Given the description of an element on the screen output the (x, y) to click on. 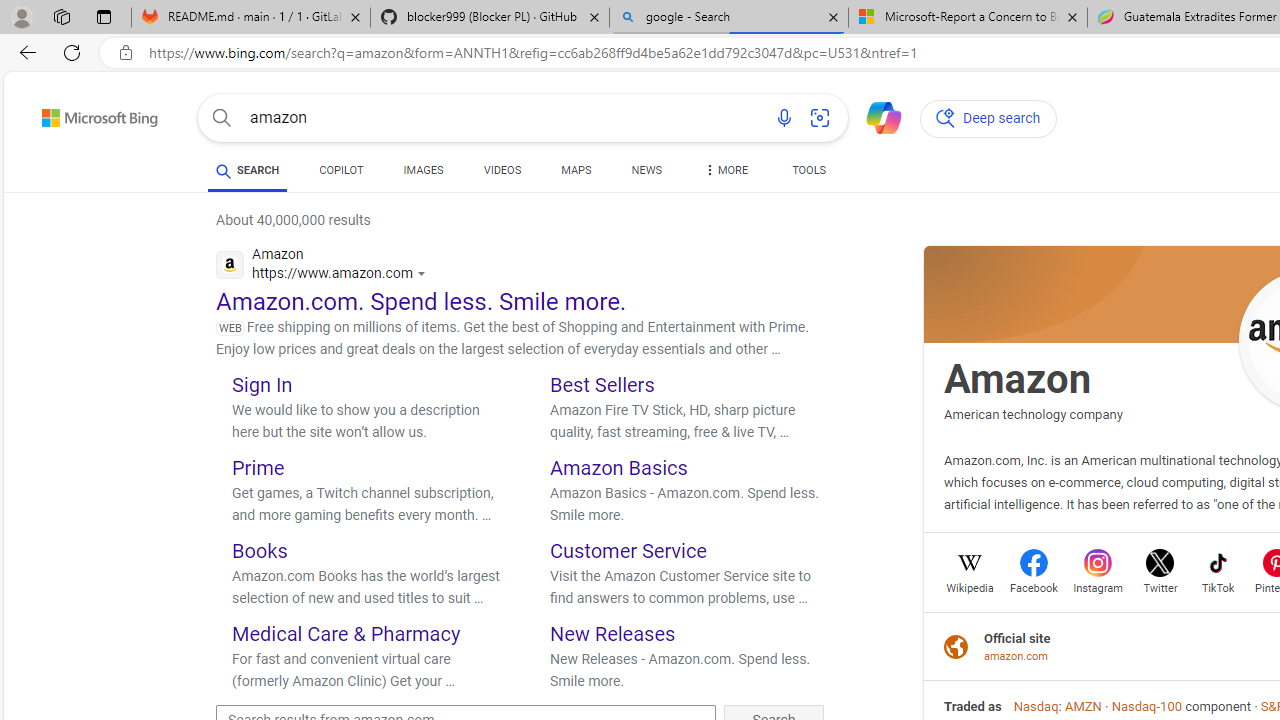
New Releases (612, 632)
TOOLS (808, 173)
TikTok (1217, 586)
COPILOT (341, 170)
Search using voice (783, 117)
TOOLS (808, 170)
Amazon.com. Spend less. Smile more. (421, 301)
NEWS (646, 170)
Books (259, 550)
